Given the description of an element on the screen output the (x, y) to click on. 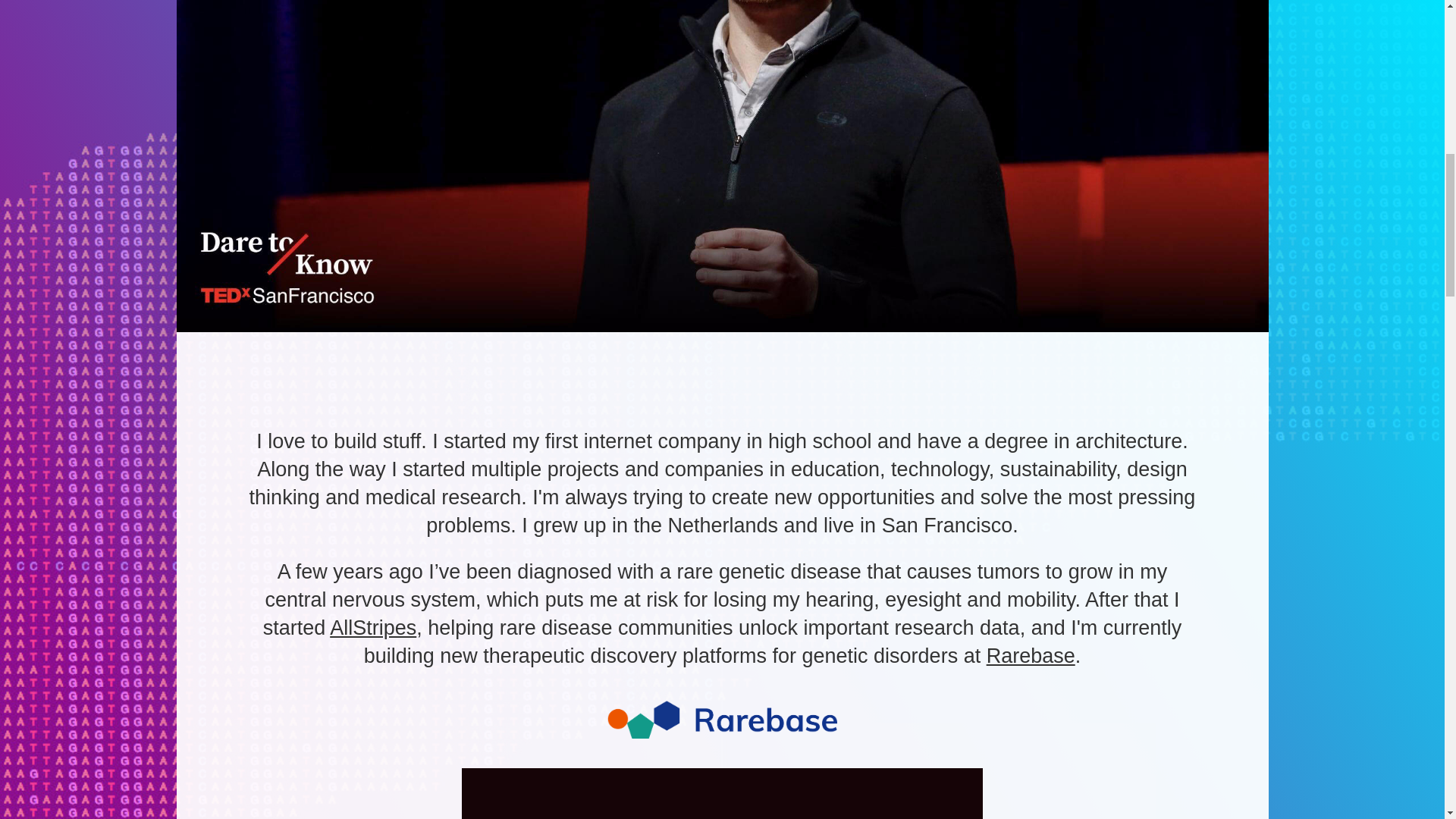
Rarebase (1031, 655)
AllStripes (373, 627)
